Given the description of an element on the screen output the (x, y) to click on. 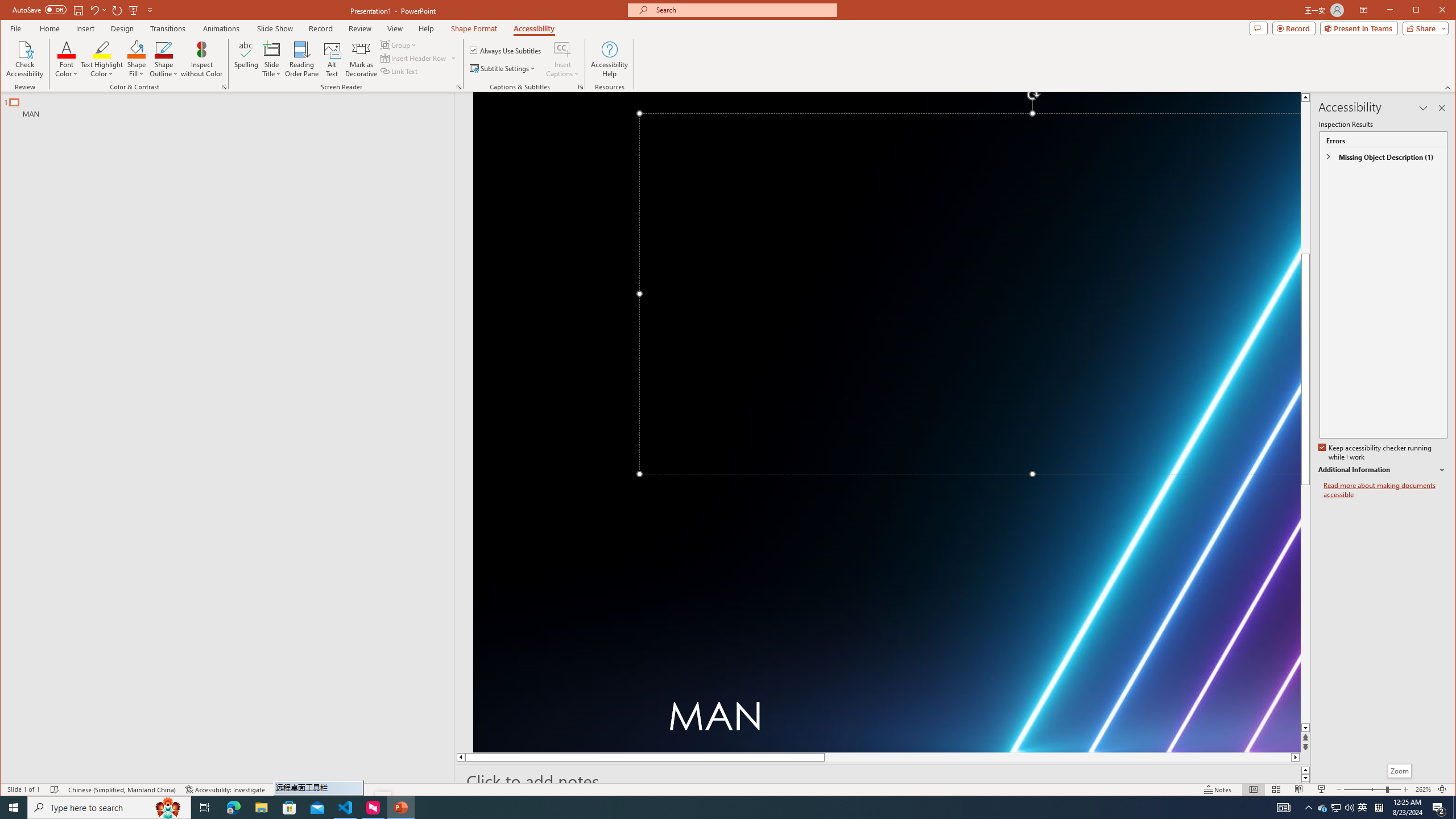
Design (122, 28)
Shape Format (473, 28)
Slide Title (271, 59)
Insert Captions (562, 48)
Reading Order Pane (301, 59)
Tray Input Indicator - Chinese (Simplified, China) (1378, 807)
Present in Teams (1358, 28)
Outline (231, 104)
